Given the description of an element on the screen output the (x, y) to click on. 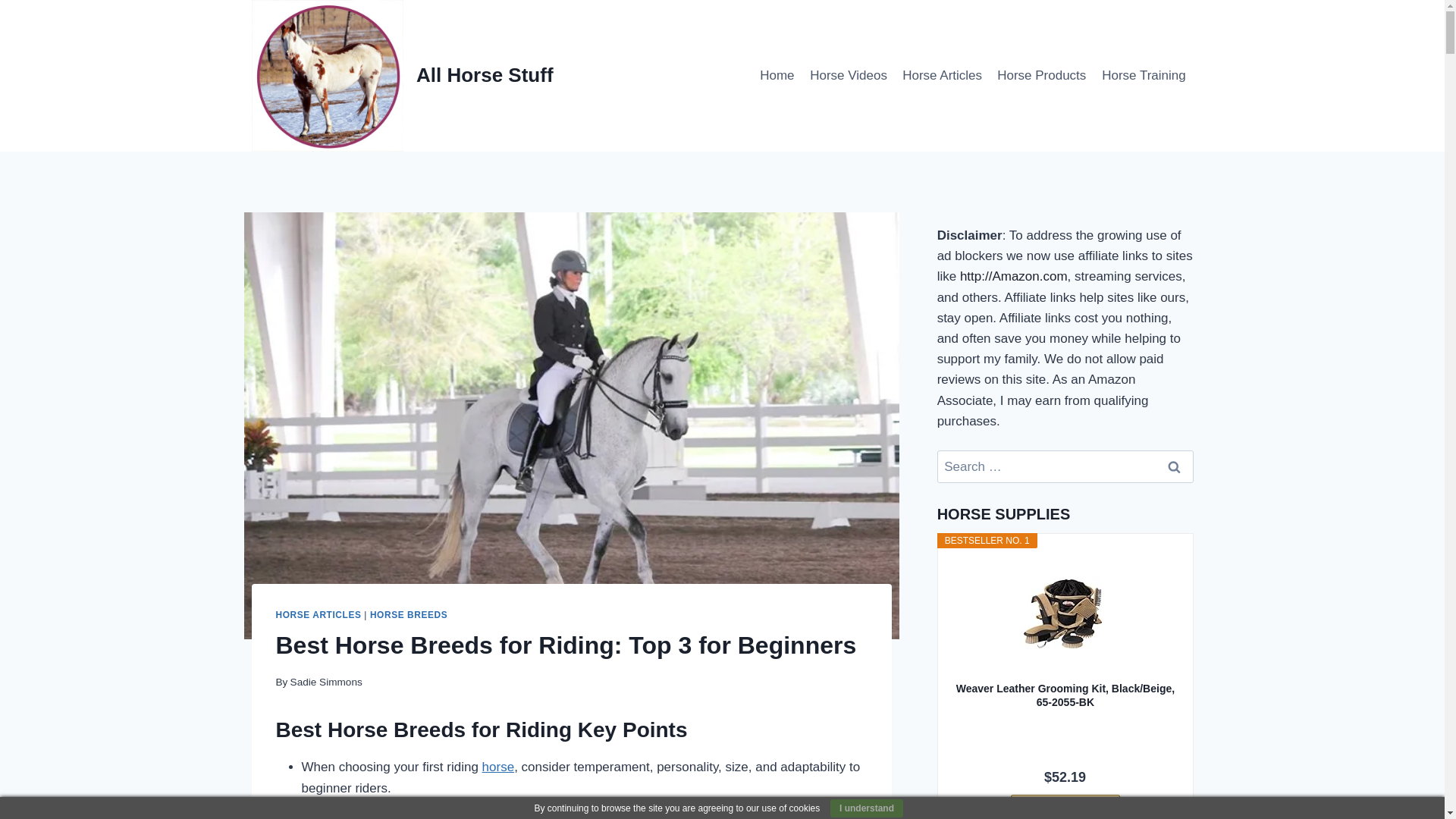
Home (777, 75)
HORSE BREEDS (407, 614)
Posts tagged with horse (429, 808)
Search (1174, 466)
HORSE ARTICLES (318, 614)
All Horse Stuff (402, 75)
Horse Articles (942, 75)
Horse Videos (848, 75)
Posts tagged with horse (357, 730)
horse (498, 766)
